Given the description of an element on the screen output the (x, y) to click on. 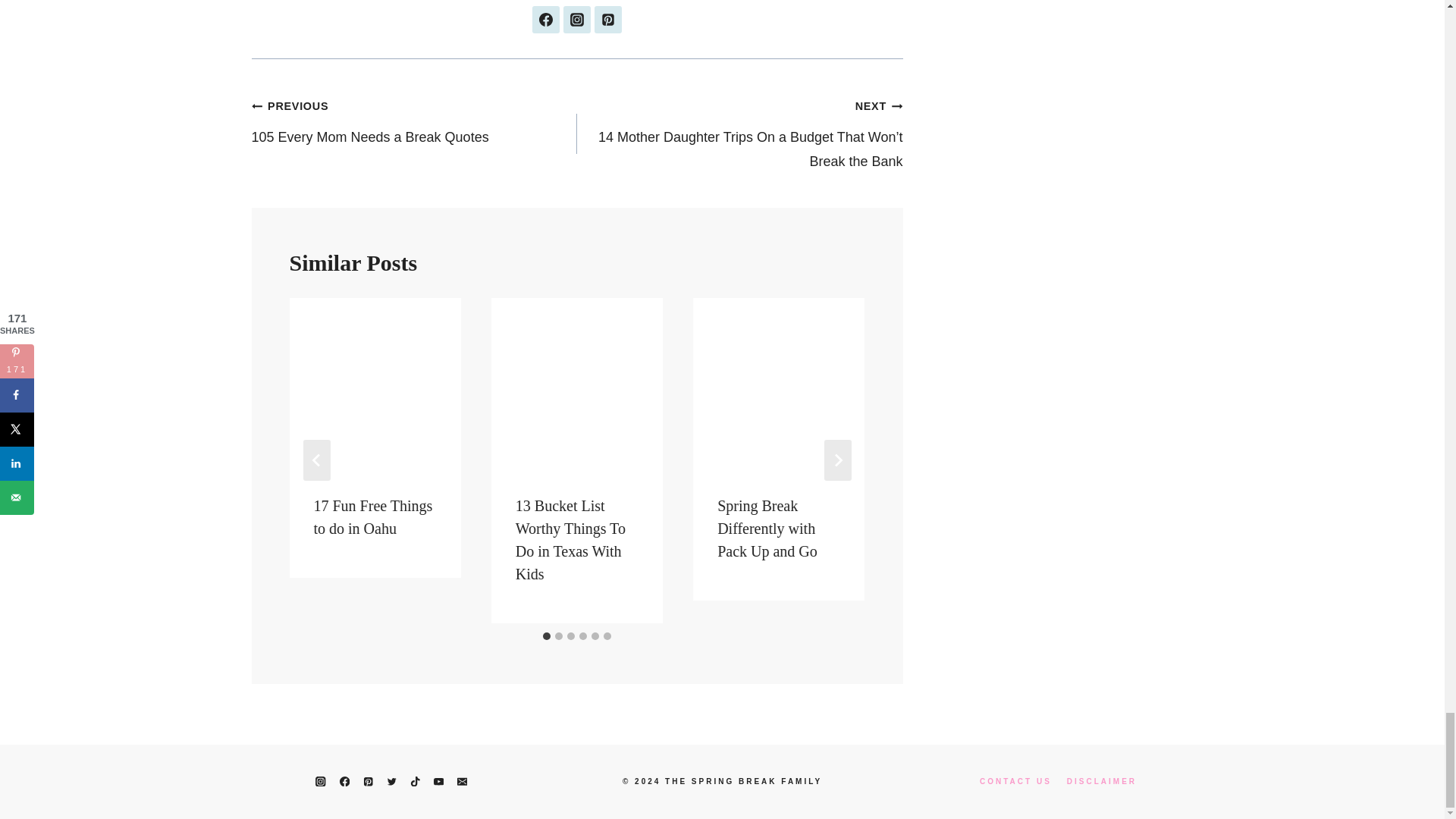
Follow Monty Hudson on Instagram (577, 19)
Follow Monty Hudson on Facebook (545, 19)
Follow Monty Hudson on Pinterest (607, 19)
